Given the description of an element on the screen output the (x, y) to click on. 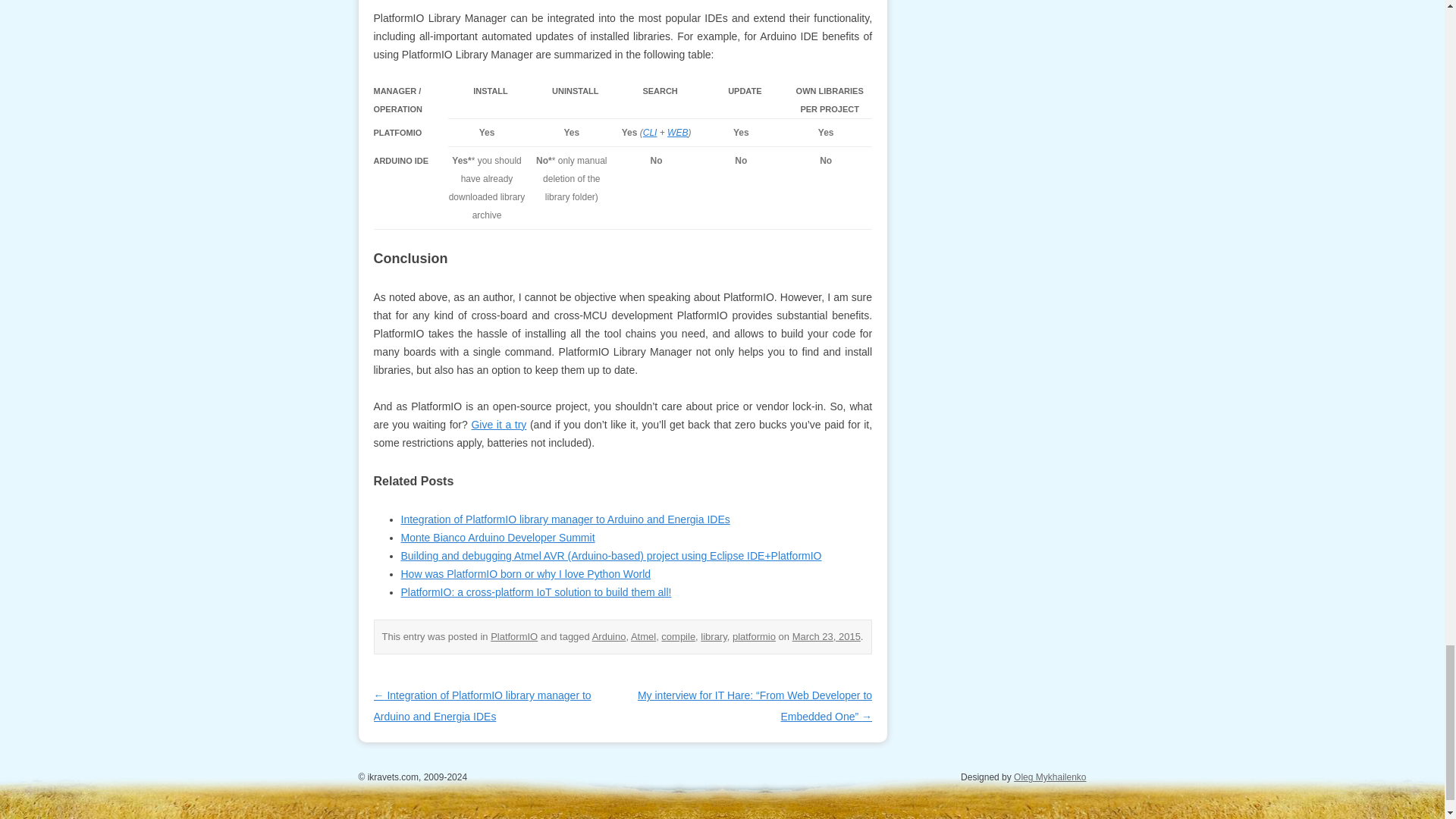
PlatformIO: a cross-platform IoT solution to build them all! (535, 592)
PlatformIO (513, 636)
Arduino (609, 636)
library (713, 636)
2:26 pm (826, 636)
Give it a try (497, 424)
compile (678, 636)
Monte Bianco Arduino Developer Summit (497, 537)
CLI (650, 132)
